Given the description of an element on the screen output the (x, y) to click on. 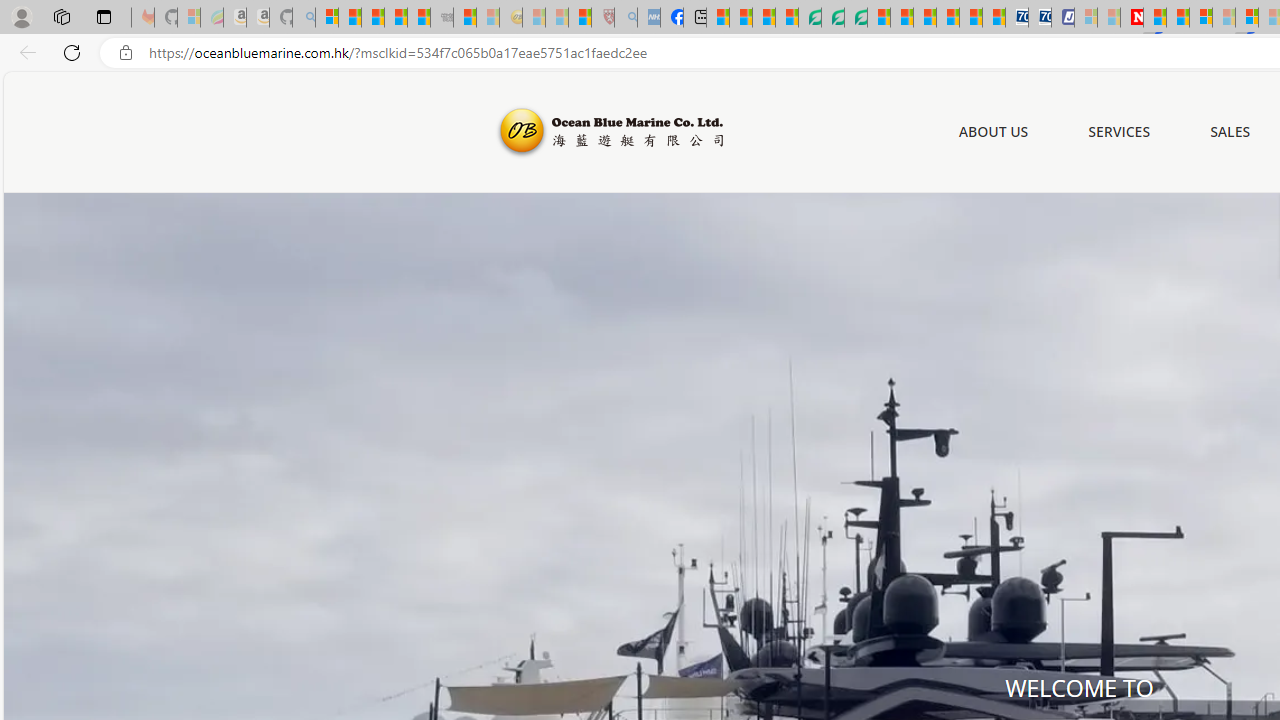
Microsoft account | Privacy - Sleeping (1085, 17)
Trusted Community Engagement and Contributions | Guidelines (1155, 17)
LendingTree - Compare Lenders (809, 17)
Terms of Use Agreement (832, 17)
Recipes - MSN - Sleeping (534, 17)
